Given the description of an element on the screen output the (x, y) to click on. 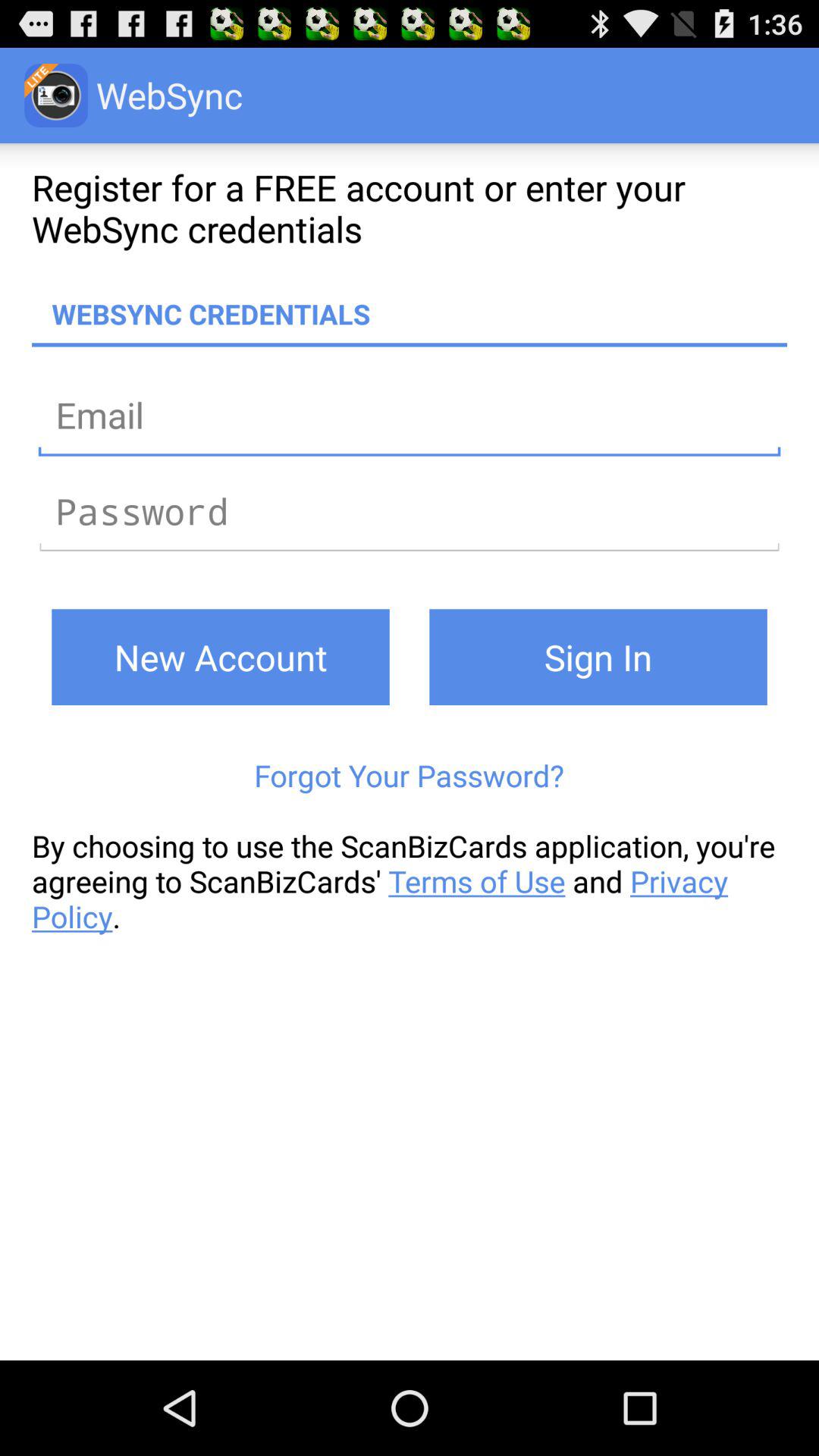
enter password (409, 510)
